Given the description of an element on the screen output the (x, y) to click on. 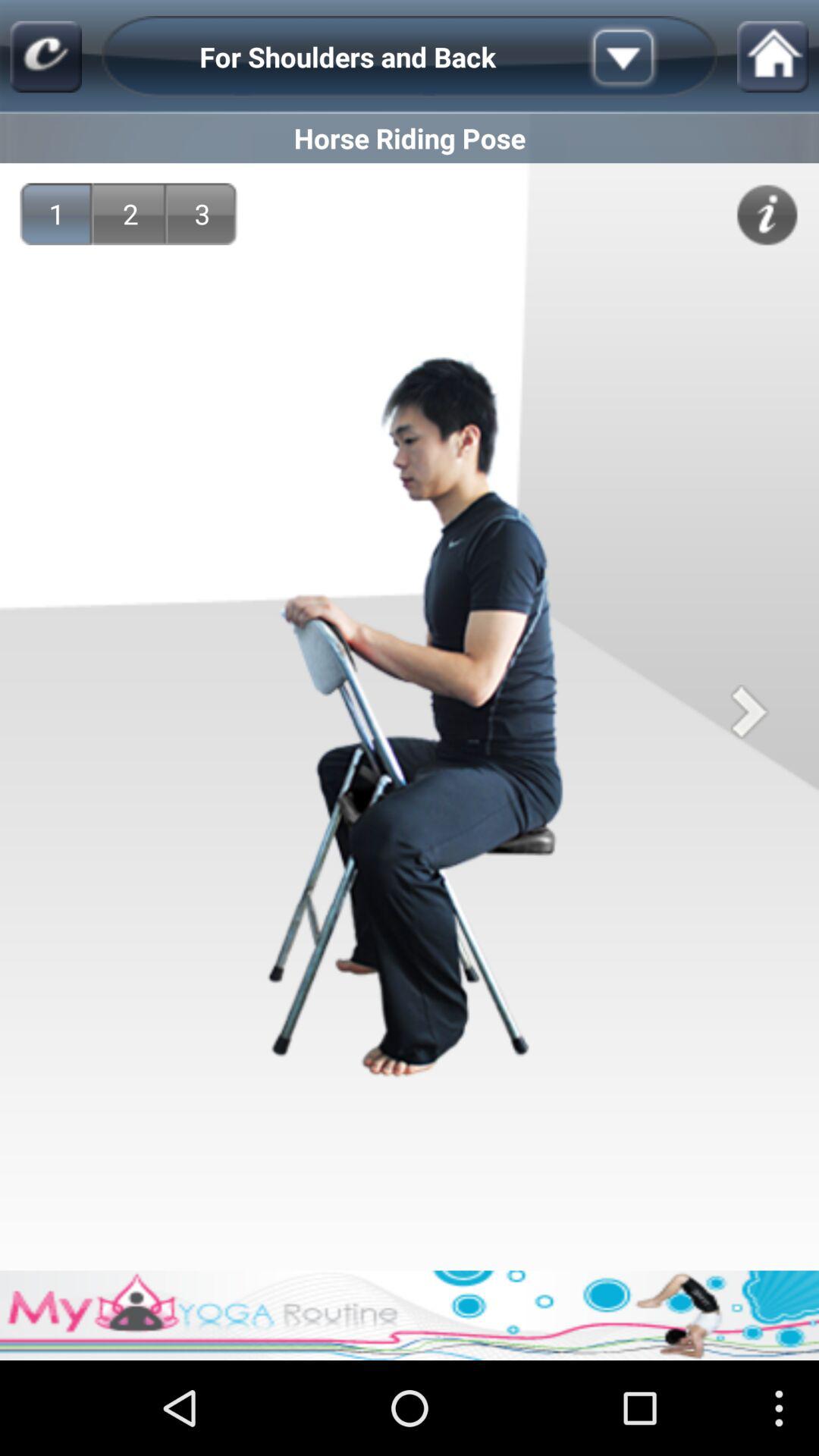
advertisement (409, 1315)
